Given the description of an element on the screen output the (x, y) to click on. 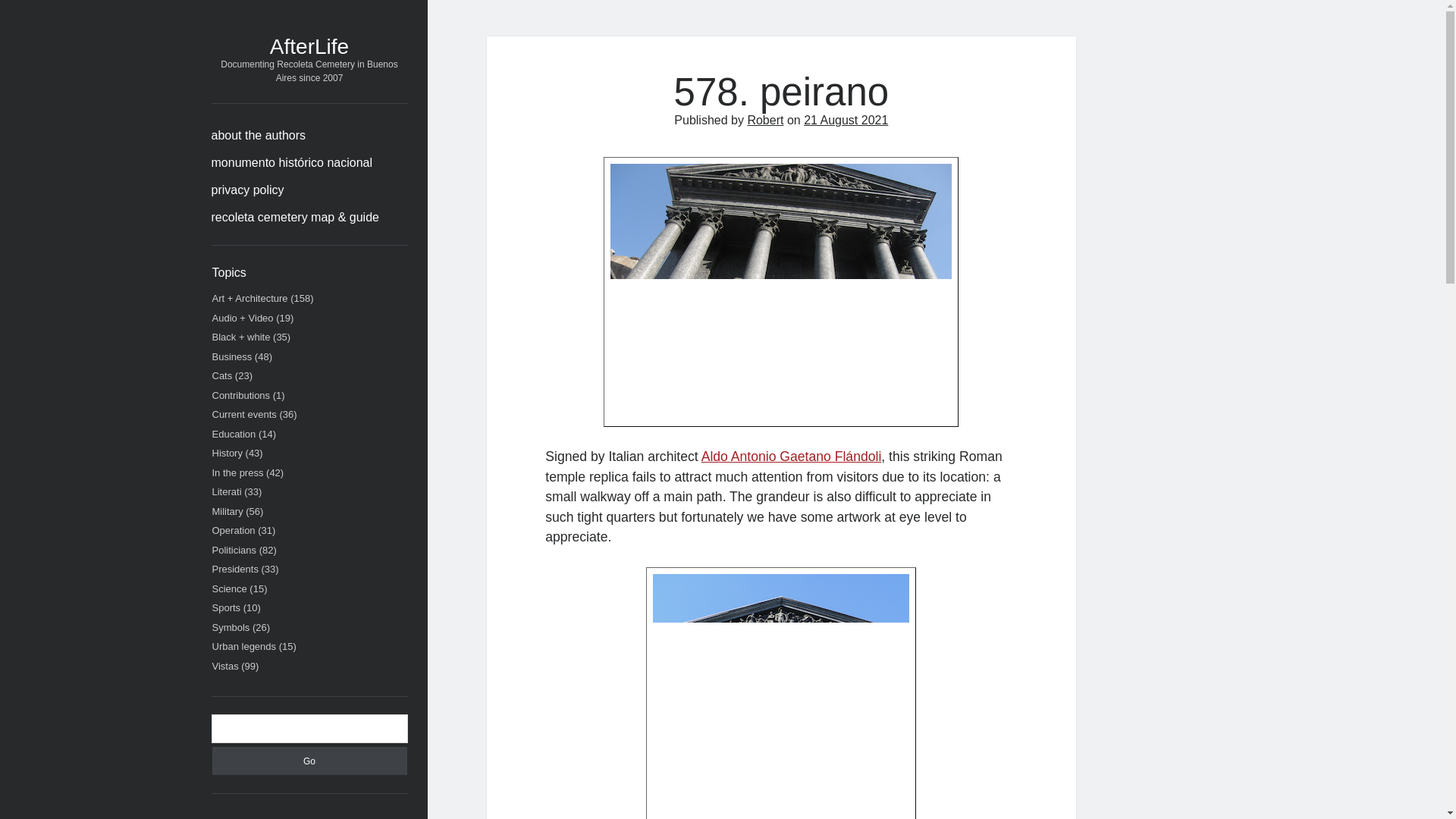
Search for: (309, 728)
Vistas (225, 665)
Education (234, 432)
Sports (226, 607)
privacy policy (247, 189)
Go (309, 760)
Cats (222, 375)
Go (309, 760)
Urban legends (244, 645)
Science (229, 587)
Robert (764, 119)
Business (231, 355)
In the press (237, 472)
Politicians (234, 550)
Military (227, 510)
